Given the description of an element on the screen output the (x, y) to click on. 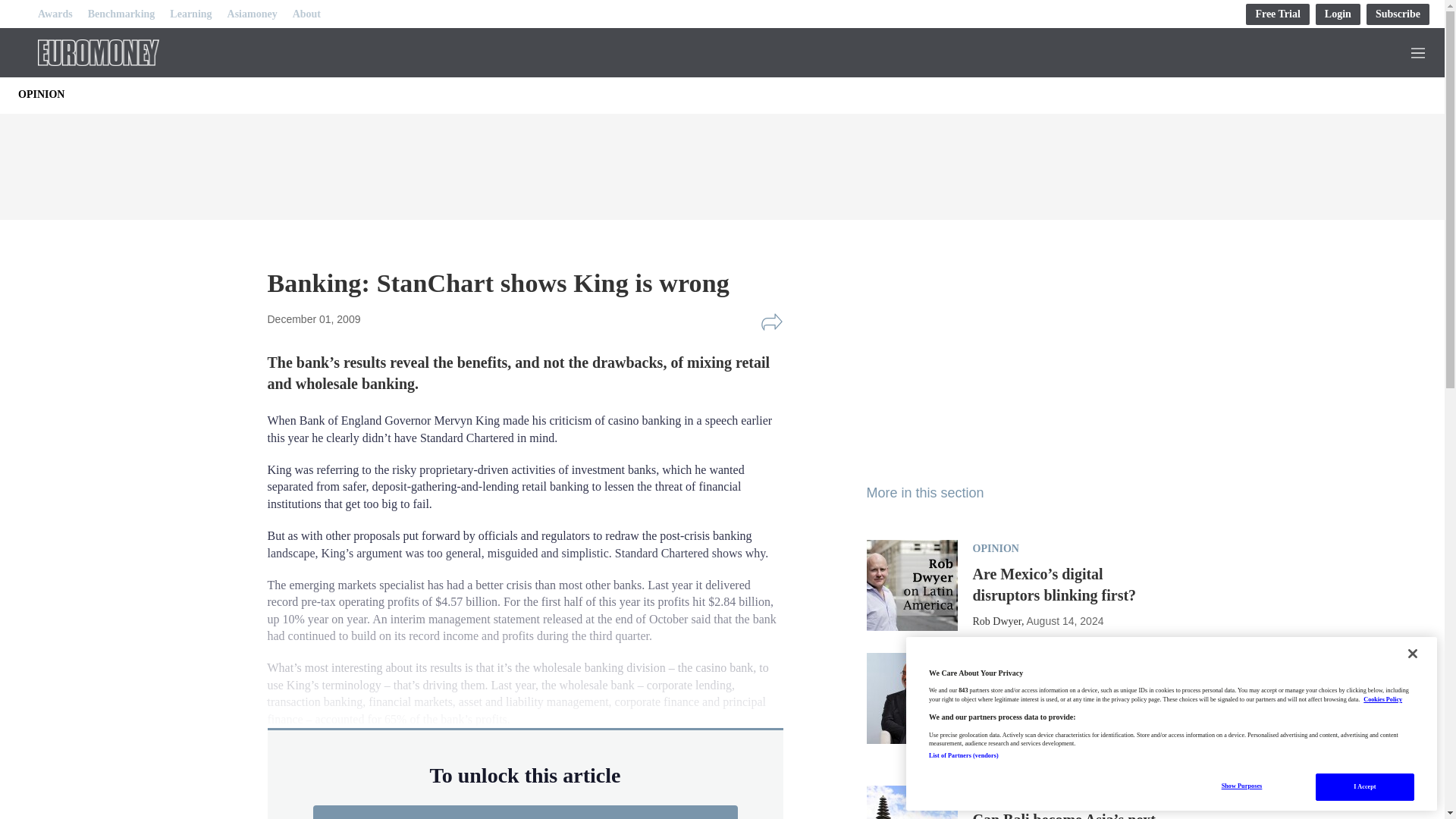
3rd party ad content (979, 375)
3rd party ad content (721, 162)
Asiamoney (252, 13)
Learning (190, 13)
Awards (54, 13)
Share (771, 322)
Free Trial (1277, 13)
Subscribe (1398, 13)
About (306, 13)
Benchmarking (121, 13)
